Given the description of an element on the screen output the (x, y) to click on. 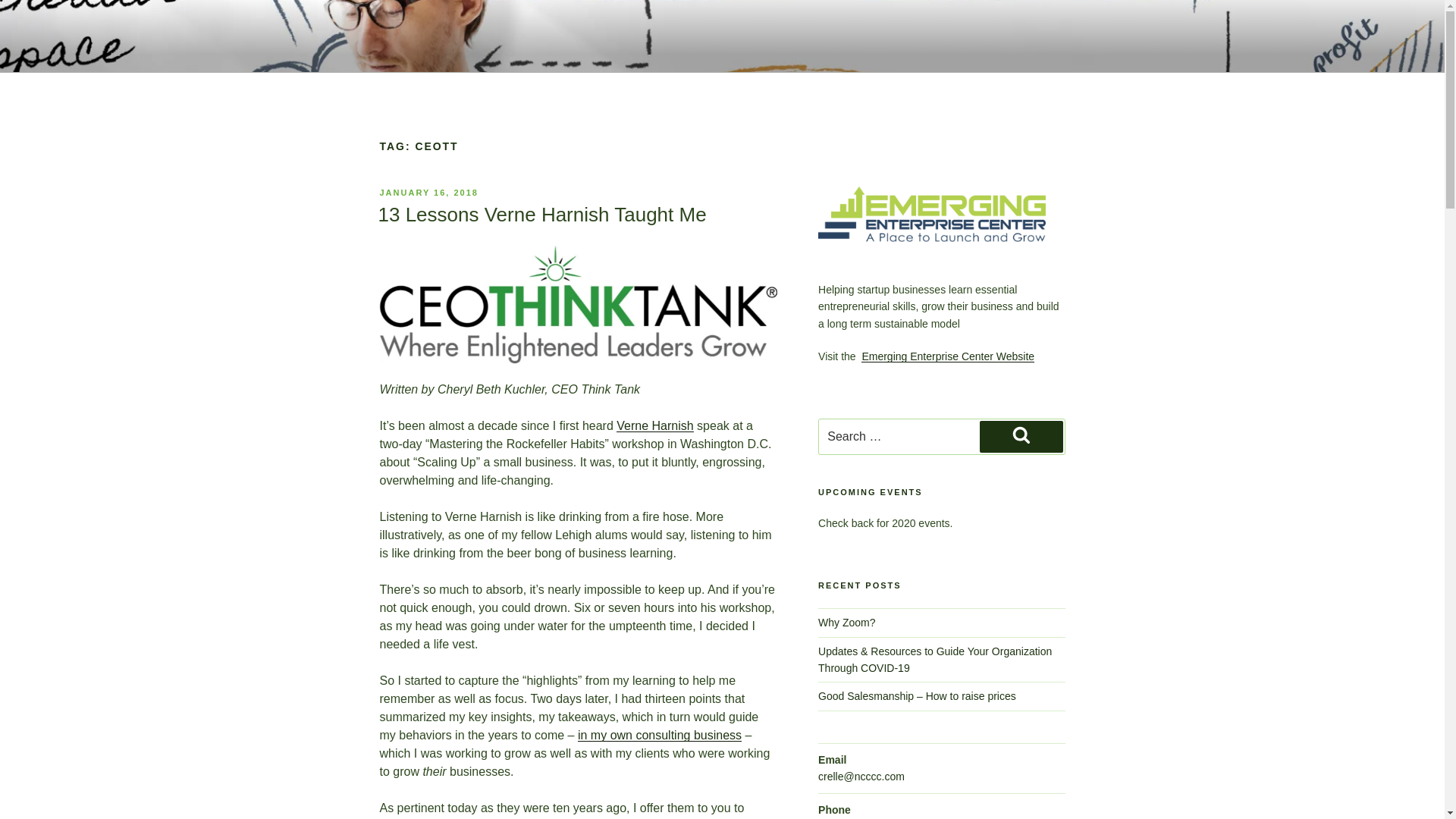
Why Zoom? (846, 622)
Verne Harnish (654, 425)
Emerging Enterprise Center Website (947, 356)
in my own consulting business (659, 735)
JANUARY 16, 2018 (427, 192)
Search (1020, 436)
13 Lessons Verne Harnish Taught Me (541, 214)
WELCOME TO THE EMERGING ENTERPRISE CENTER (709, 70)
